Given the description of an element on the screen output the (x, y) to click on. 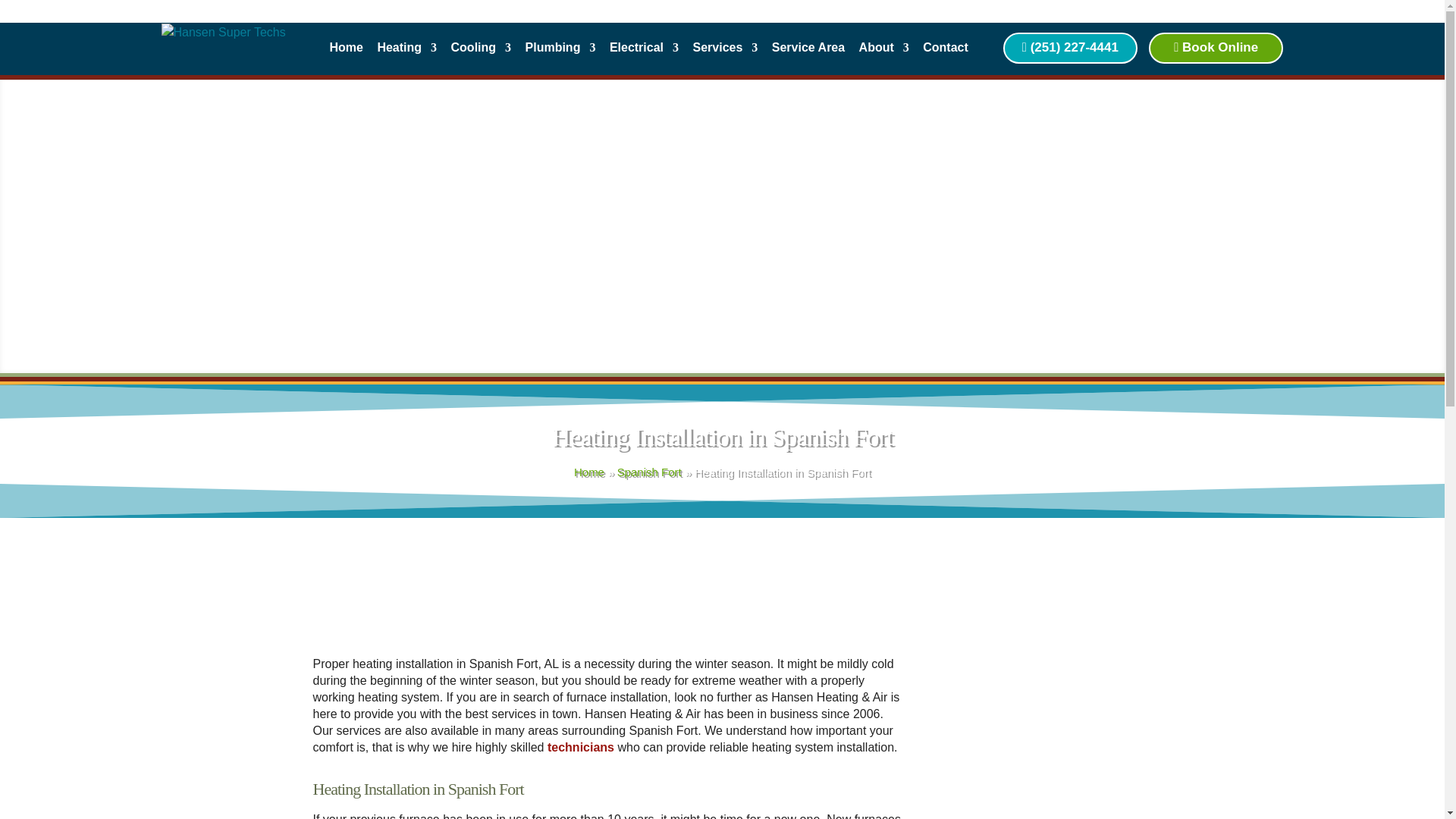
Home (588, 472)
Contact (945, 51)
Cooling (481, 51)
Heating (406, 51)
technicians (580, 747)
Spanish Fort (649, 472)
Home (345, 51)
Home (588, 472)
Spanish Fort (649, 472)
Electrical (644, 51)
